Given the description of an element on the screen output the (x, y) to click on. 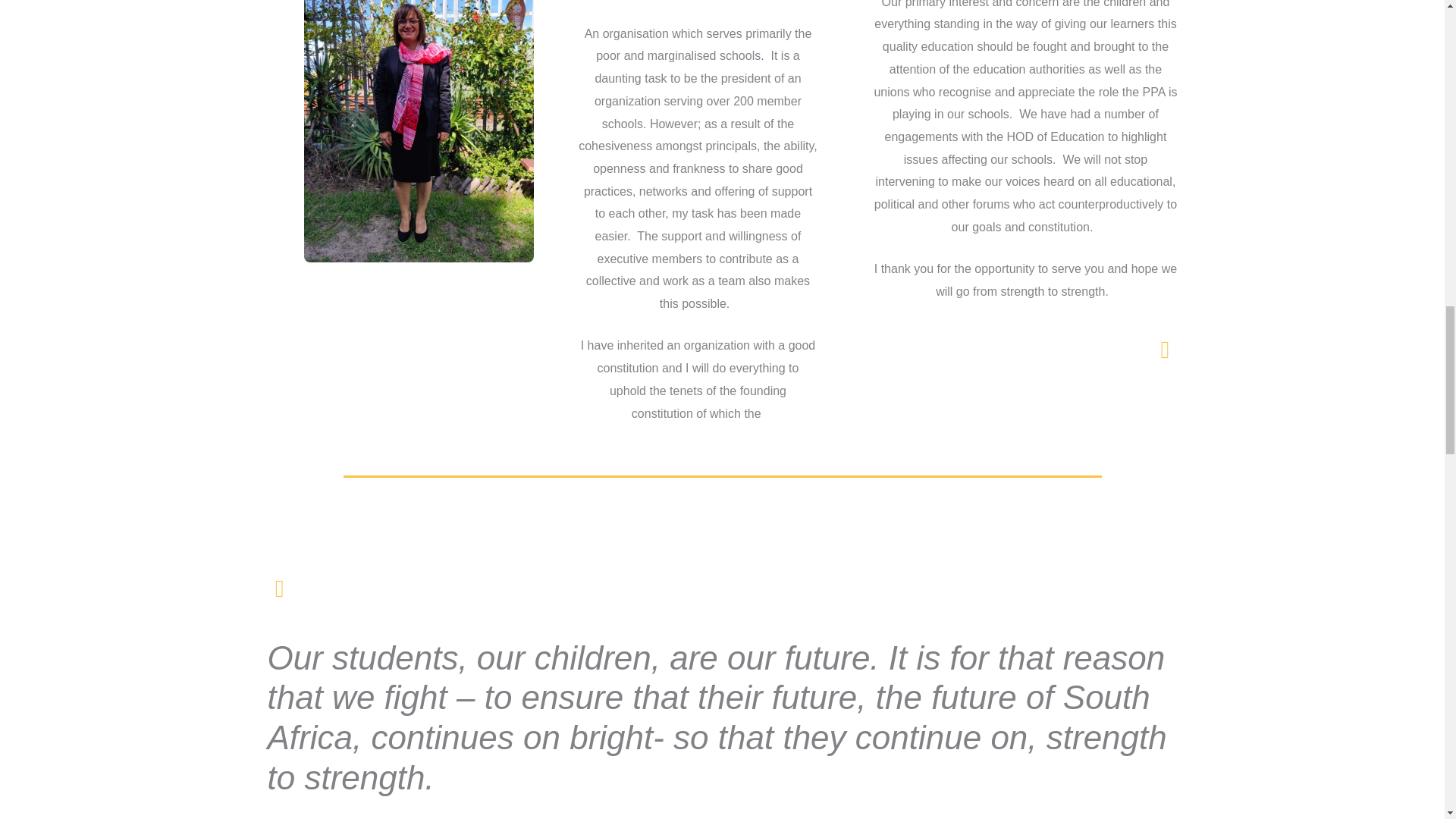
. (761, 55)
